Given the description of an element on the screen output the (x, y) to click on. 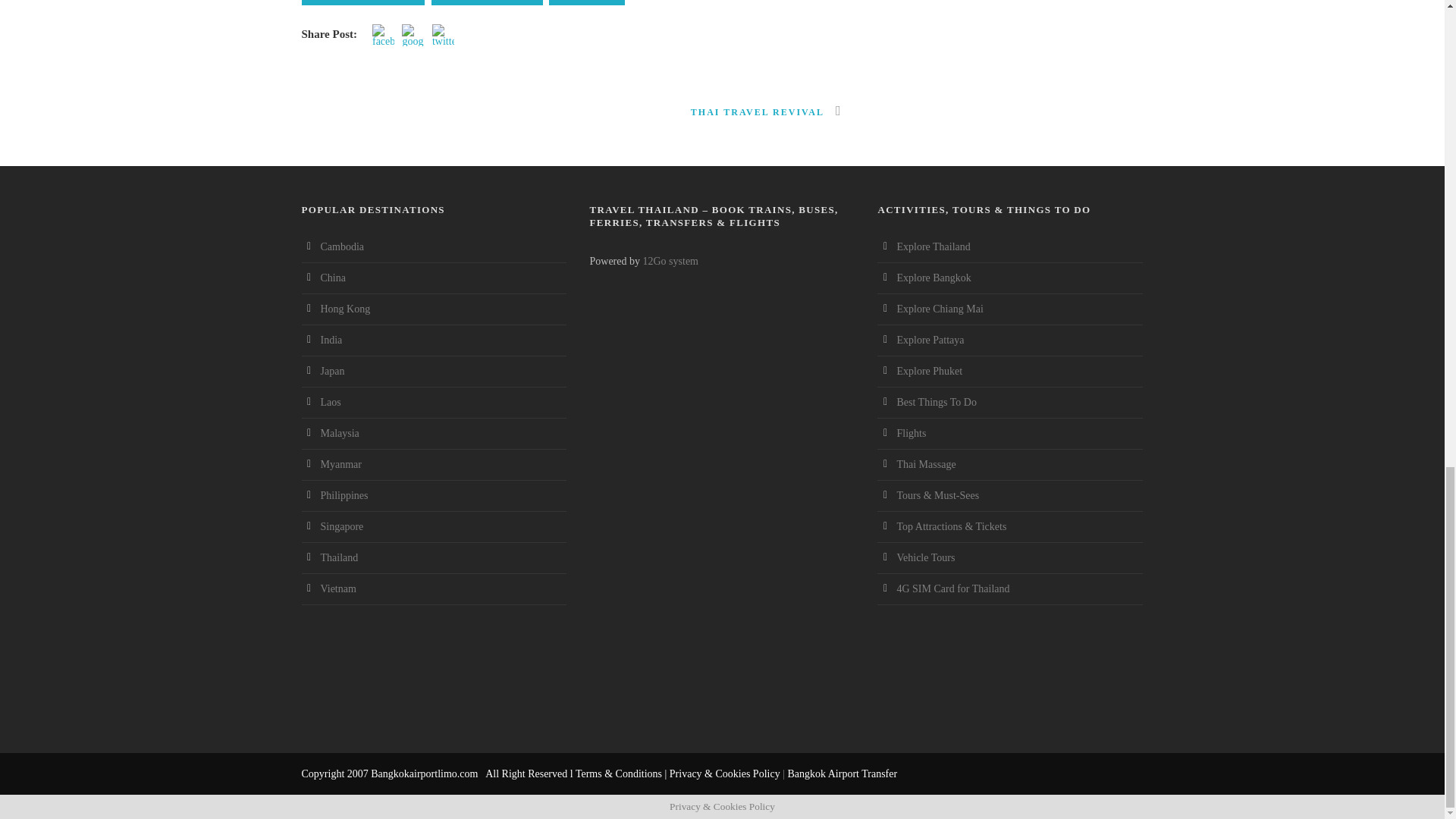
COVID-19 PANDEMIC (363, 2)
THAILAND (586, 2)
LIFT EMERGENCY (486, 2)
